Given the description of an element on the screen output the (x, y) to click on. 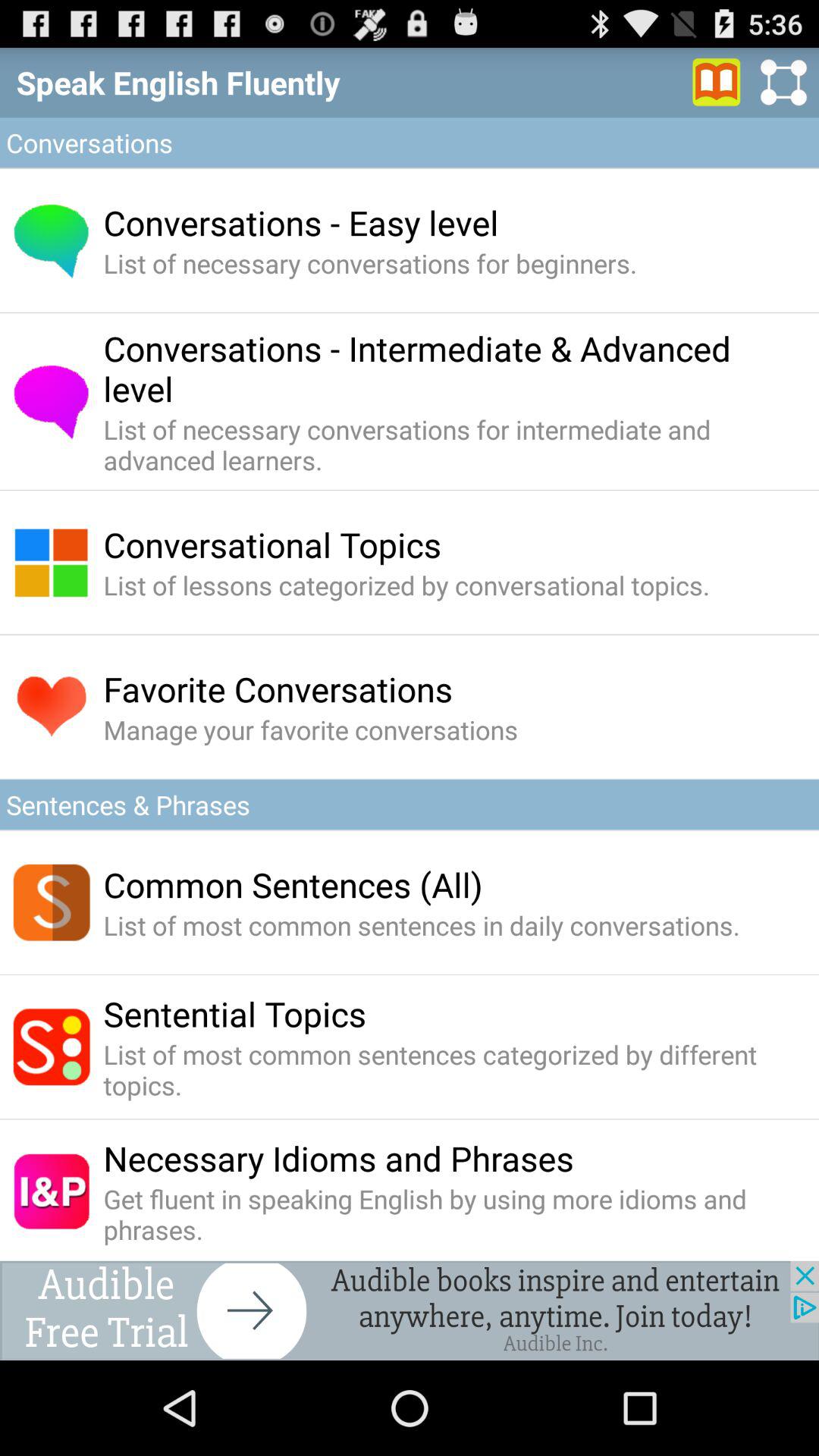
open advertisement (409, 1310)
